Given the description of an element on the screen output the (x, y) to click on. 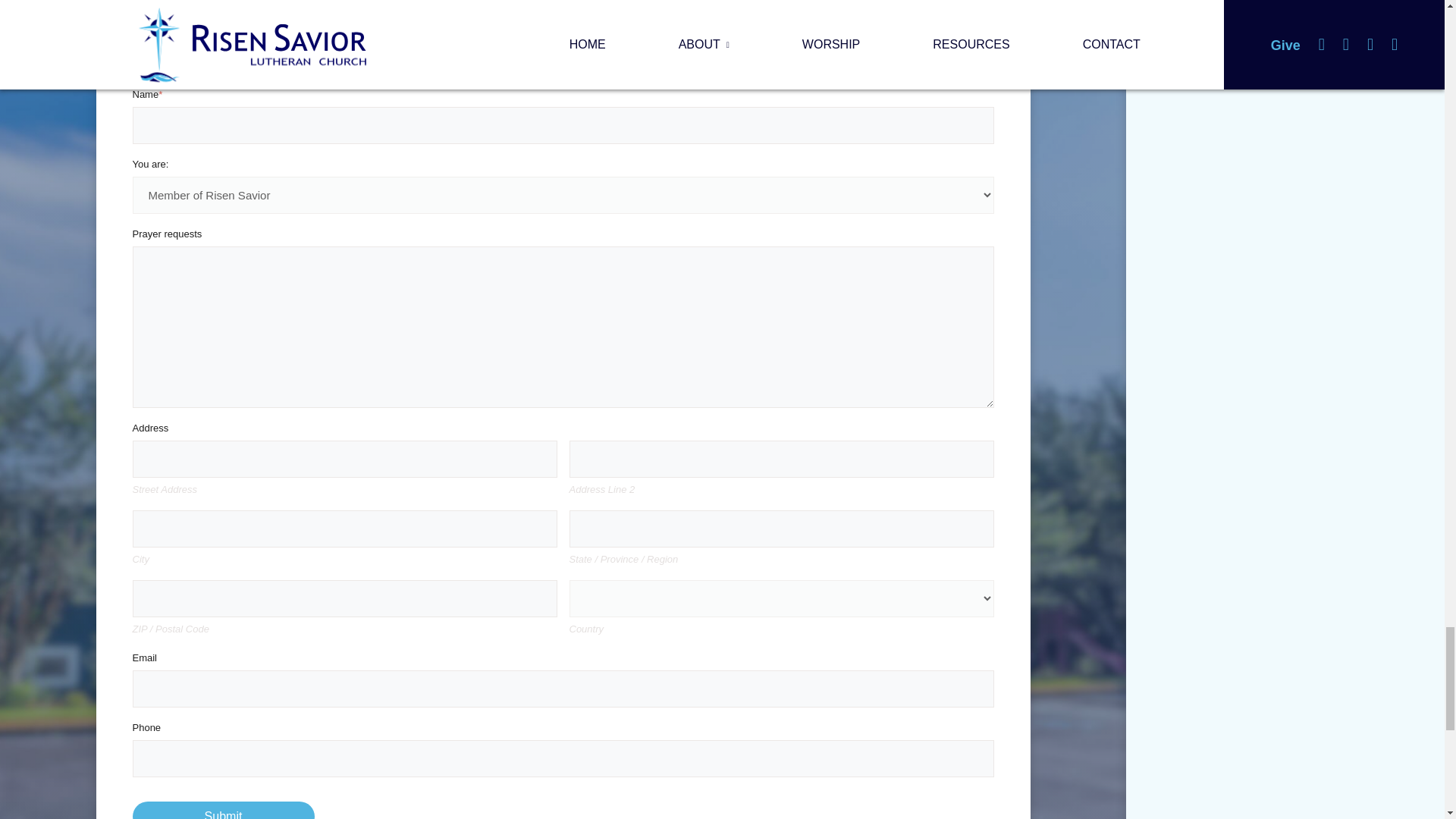
Submit (223, 810)
